Given the description of an element on the screen output the (x, y) to click on. 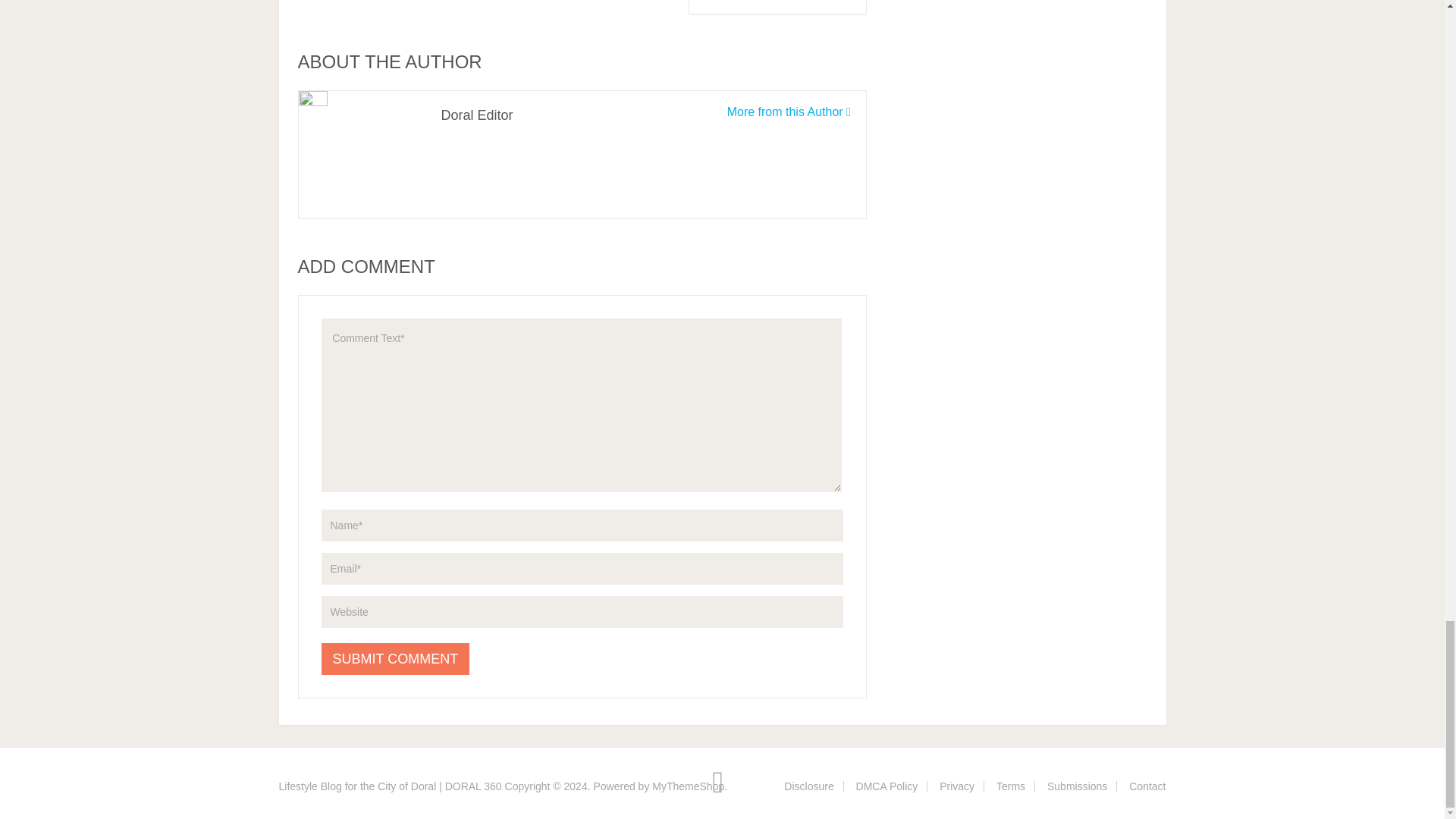
Submit Comment (395, 658)
